Given the description of an element on the screen output the (x, y) to click on. 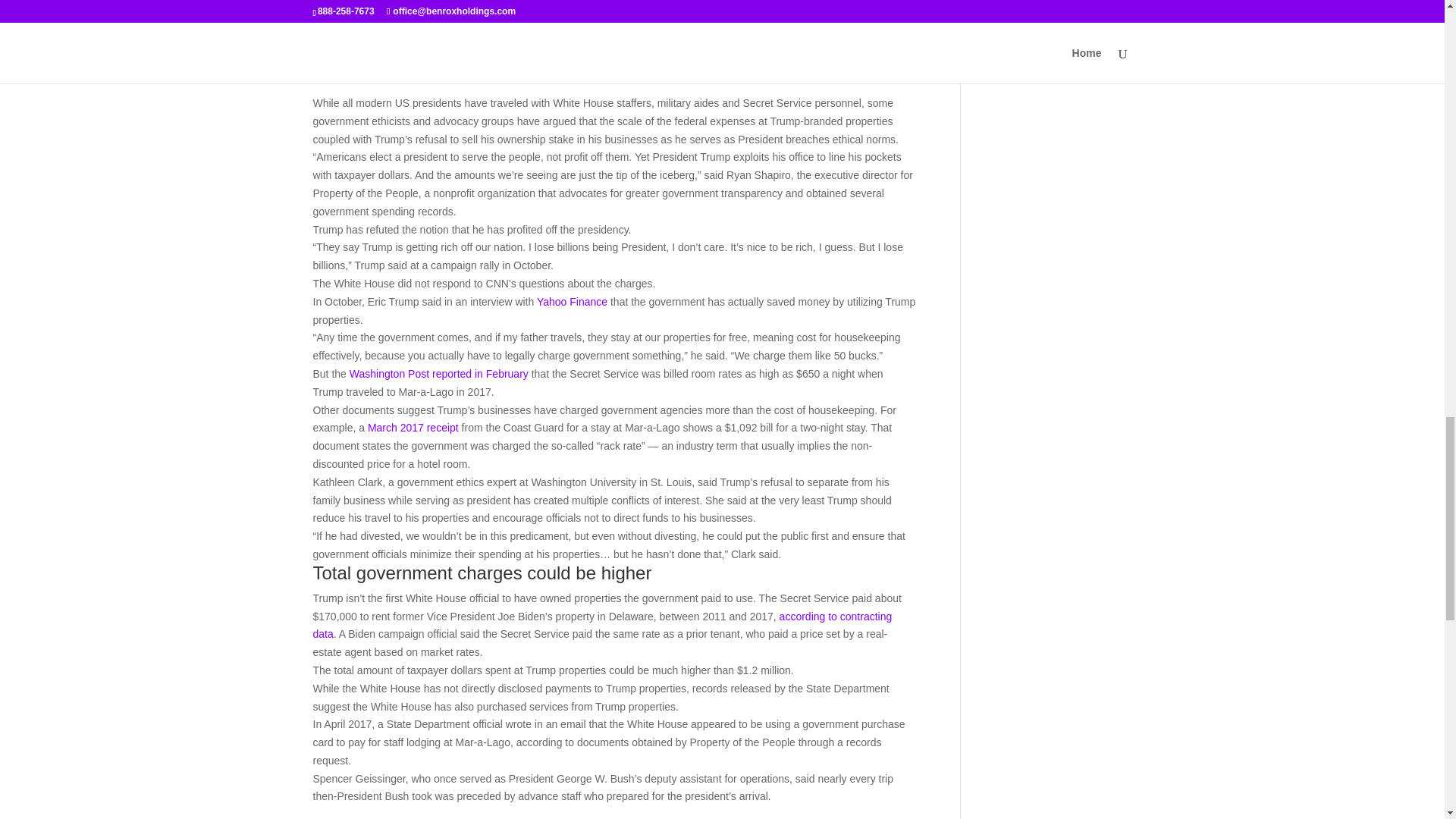
Yahoo Finance (573, 301)
Washington Post reported in February (440, 373)
March 2017 receipt (413, 427)
according to contracting data. (602, 625)
